Given the description of an element on the screen output the (x, y) to click on. 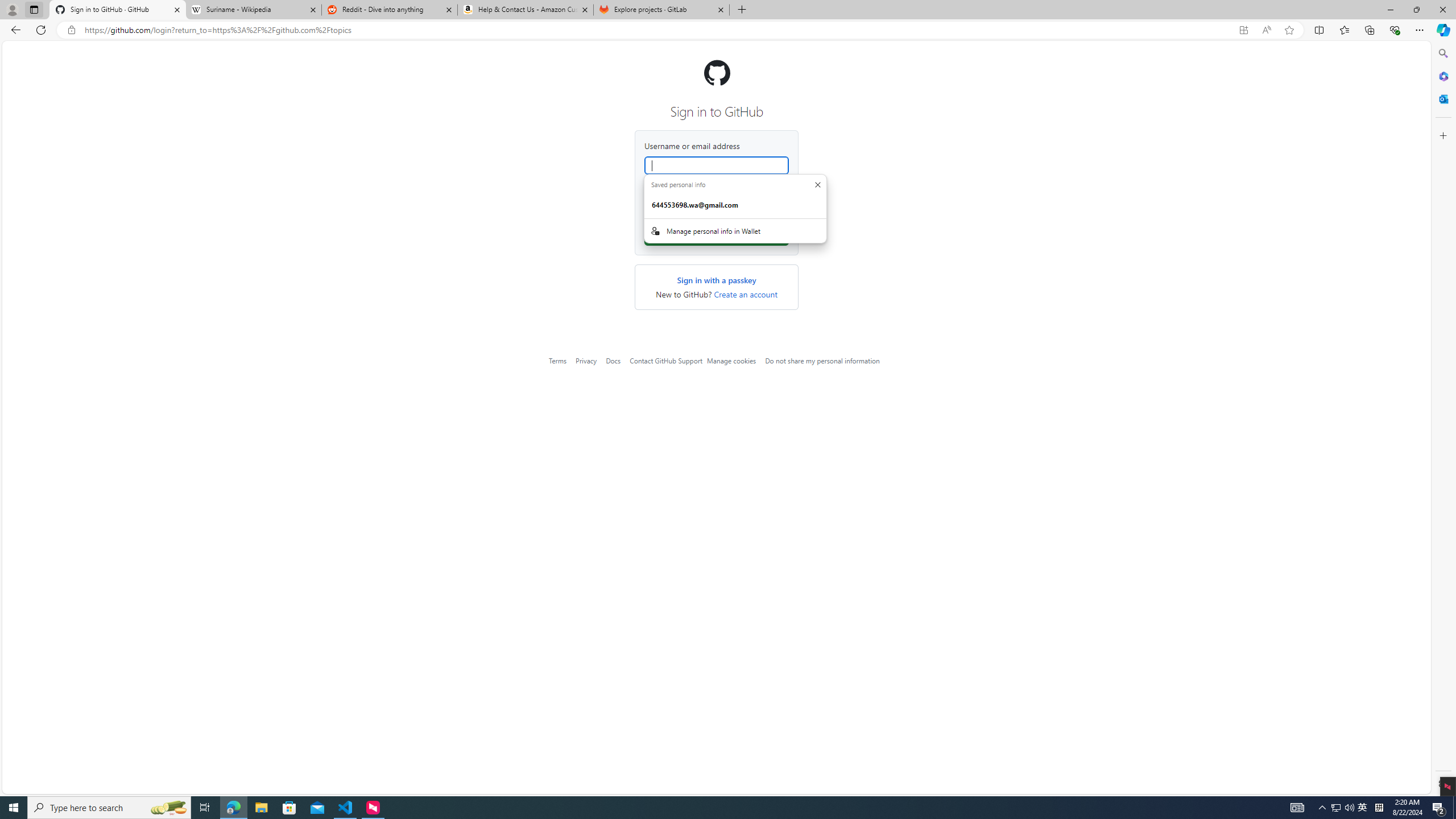
Manage cookies (731, 360)
Manage cookies (731, 360)
644553698.wa@gmail.com. :Basic info suggestion. (735, 205)
Docs (613, 360)
Docs (613, 360)
Username or email address (717, 165)
Reddit - Dive into anything (390, 9)
Terms (557, 360)
